Given the description of an element on the screen output the (x, y) to click on. 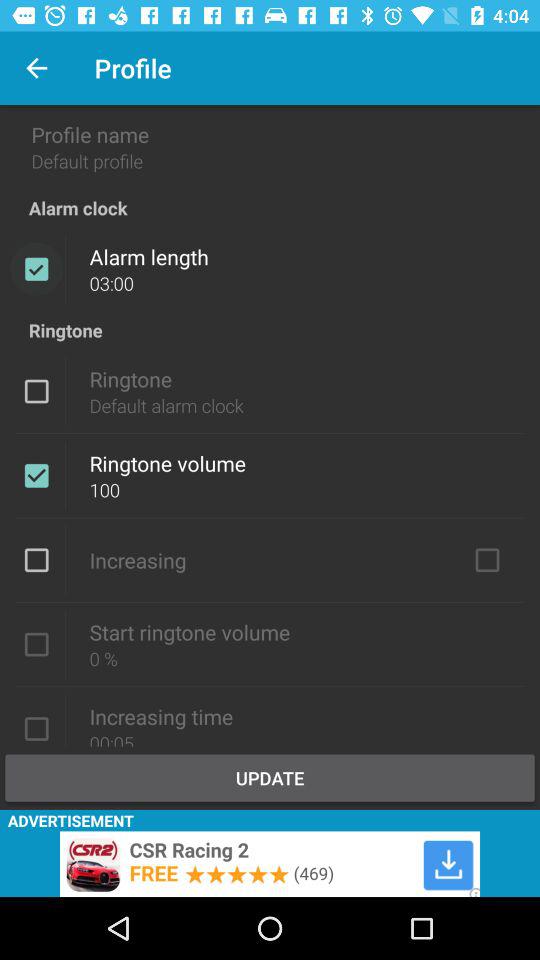
enable option (36, 644)
